Given the description of an element on the screen output the (x, y) to click on. 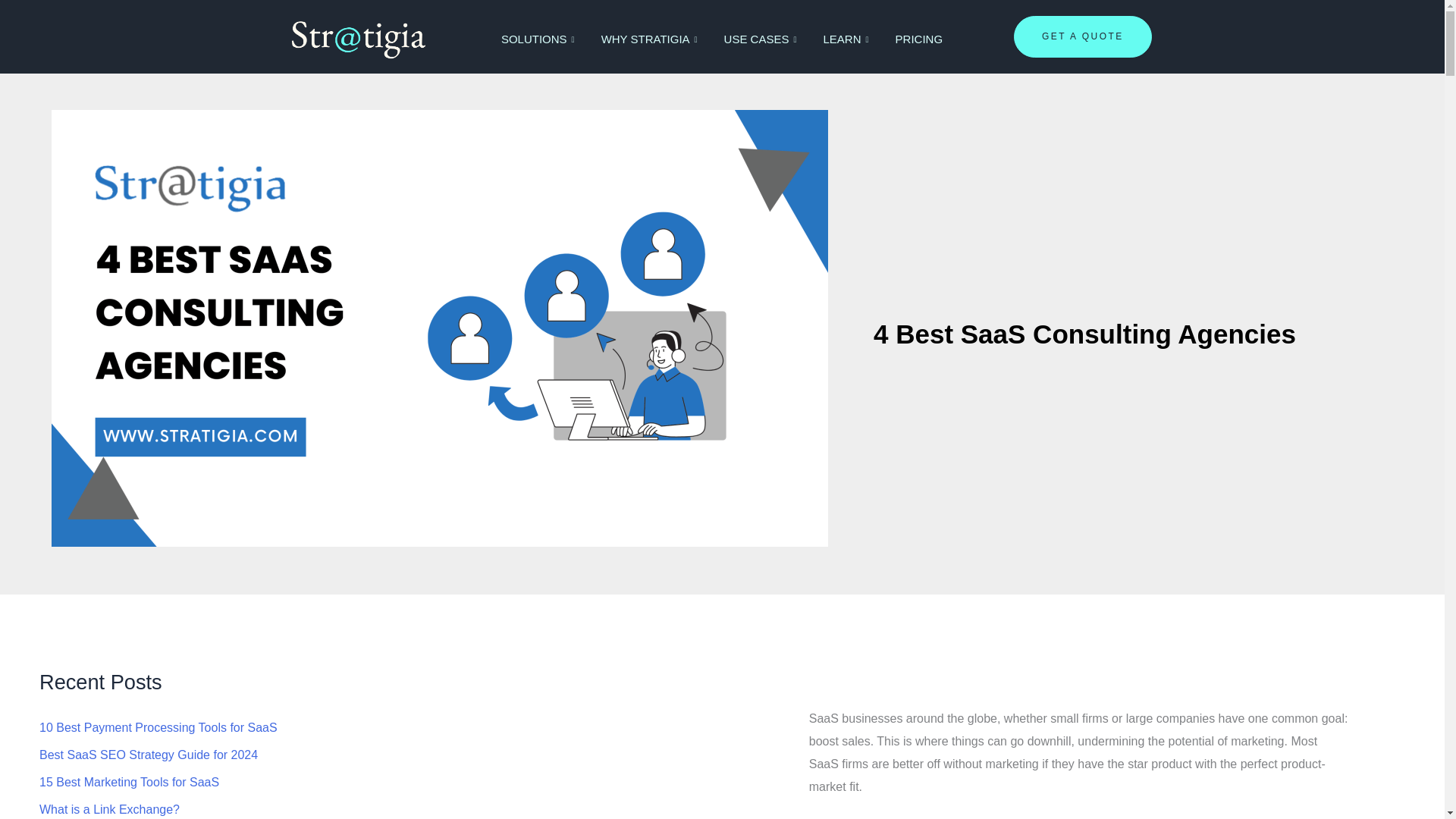
SOLUTIONS (539, 39)
WHY STRATIGIA (651, 39)
